Given the description of an element on the screen output the (x, y) to click on. 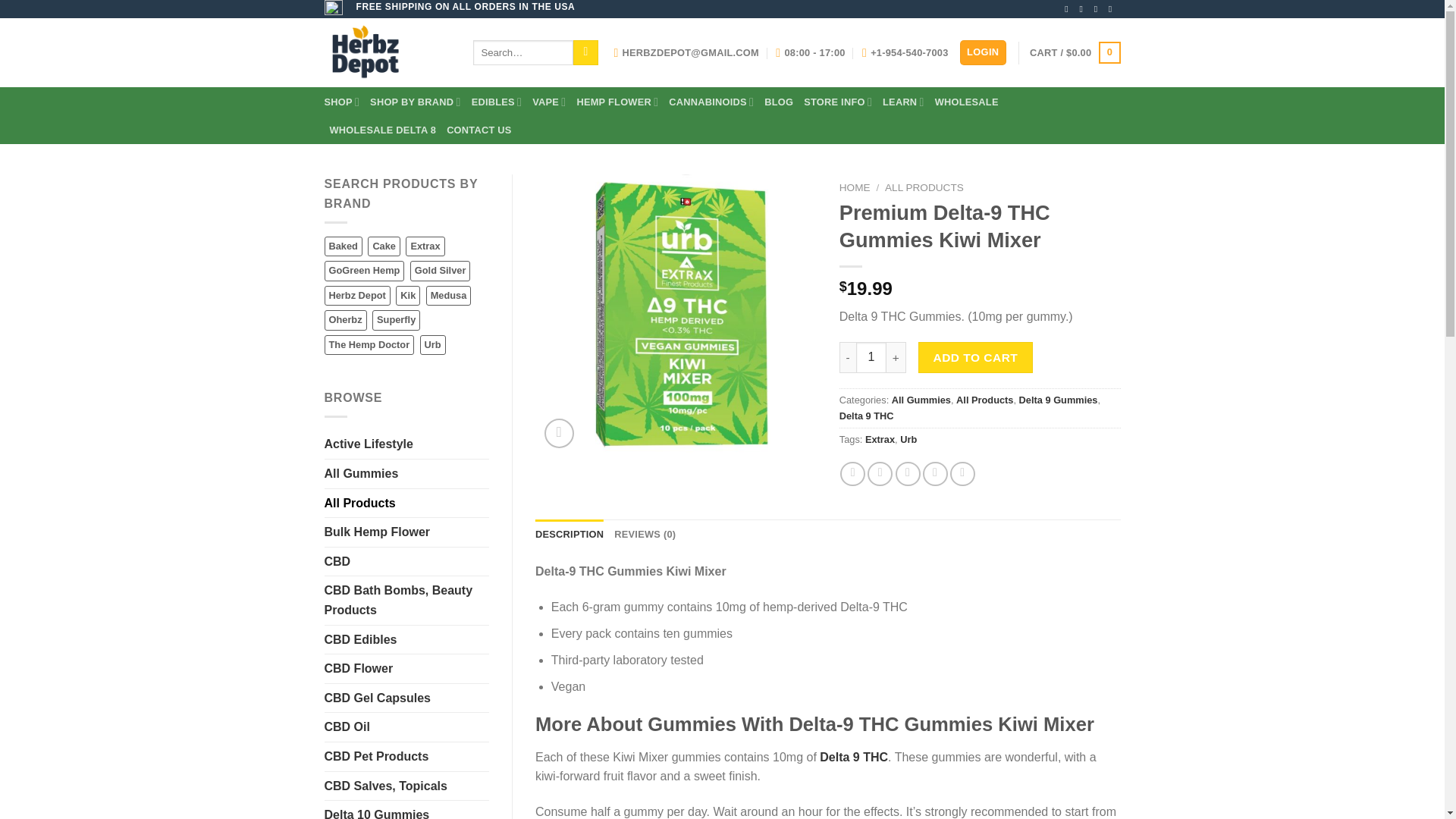
SHOP (341, 101)
Login (982, 52)
Cart (1074, 52)
08:00 - 17:00 (810, 52)
LOGIN (982, 52)
Search (585, 53)
1 (871, 357)
08:00 - 17:00  (810, 52)
SHOP BY BRAND (415, 101)
Zoom (558, 432)
